Given the description of an element on the screen output the (x, y) to click on. 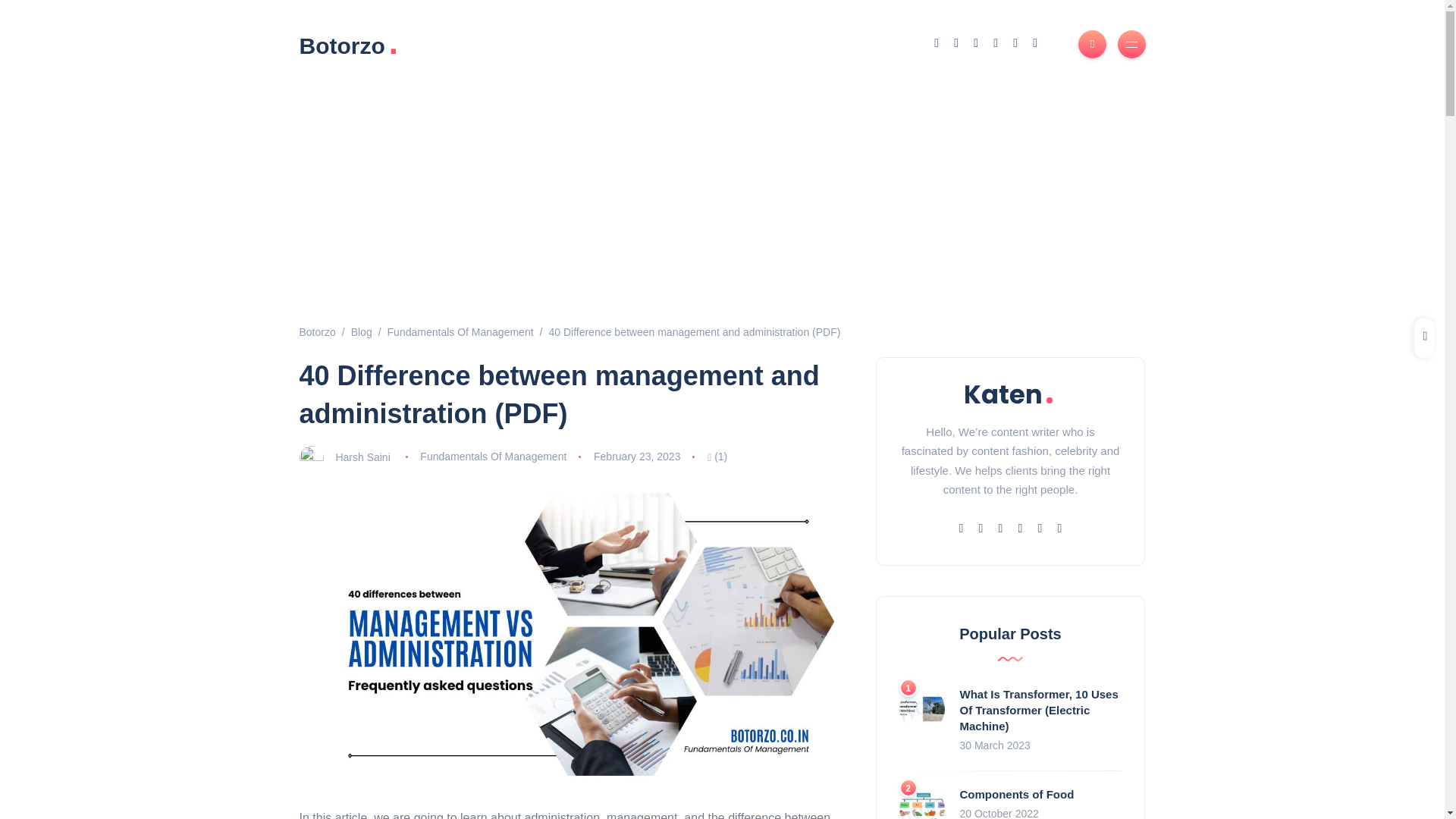
Go to the Fundamentals Of Management Category archives. (460, 331)
Go to Botorzo. (316, 331)
Botorzo (316, 331)
Fundamentals Of Management (460, 331)
Posts by Harsh Saini (362, 456)
Blog (361, 331)
Harsh Saini (362, 456)
Go to Blog. (361, 331)
Components of Food 4 (921, 802)
